Given the description of an element on the screen output the (x, y) to click on. 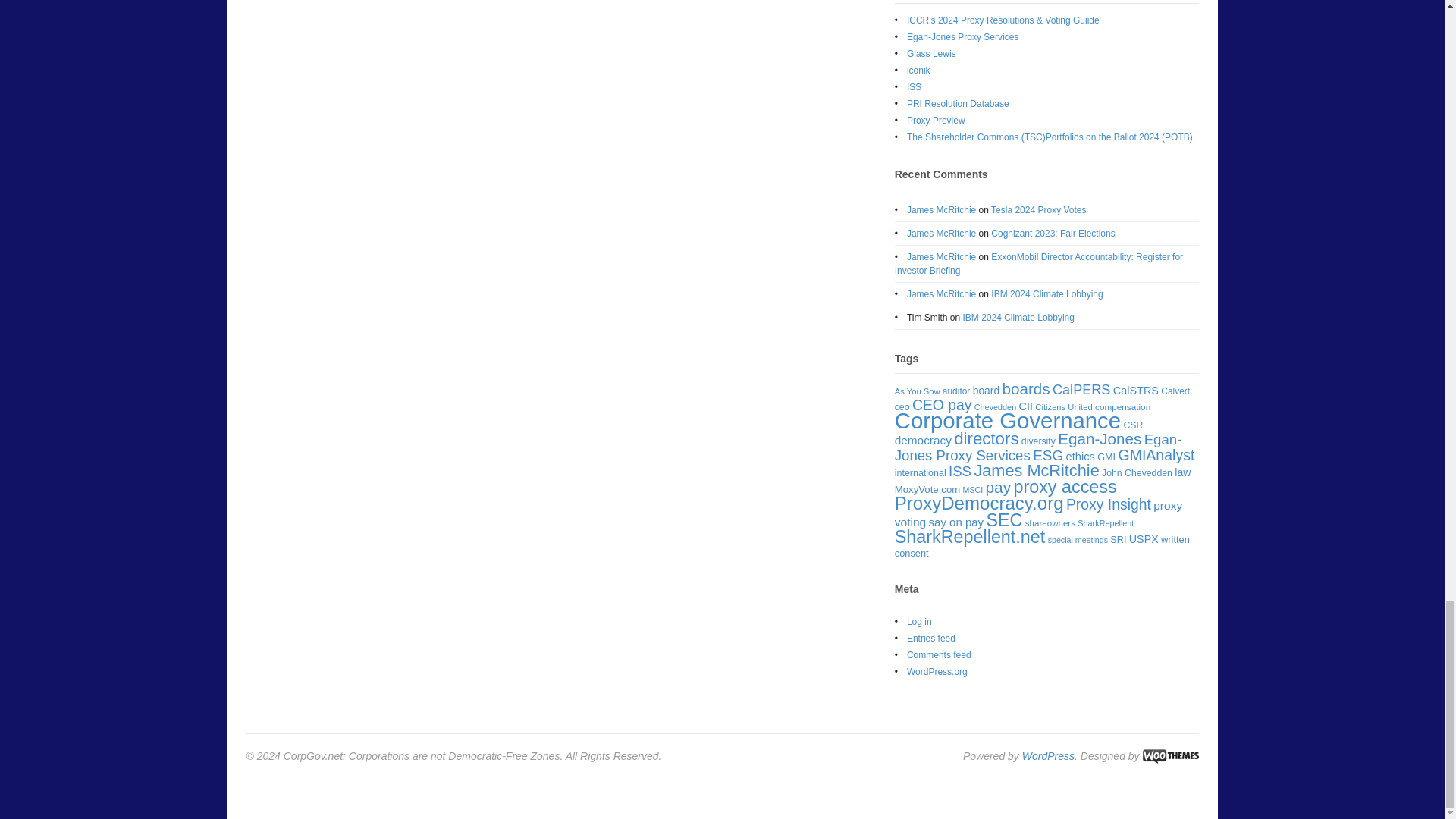
WordPress (1048, 756)
